Given the description of an element on the screen output the (x, y) to click on. 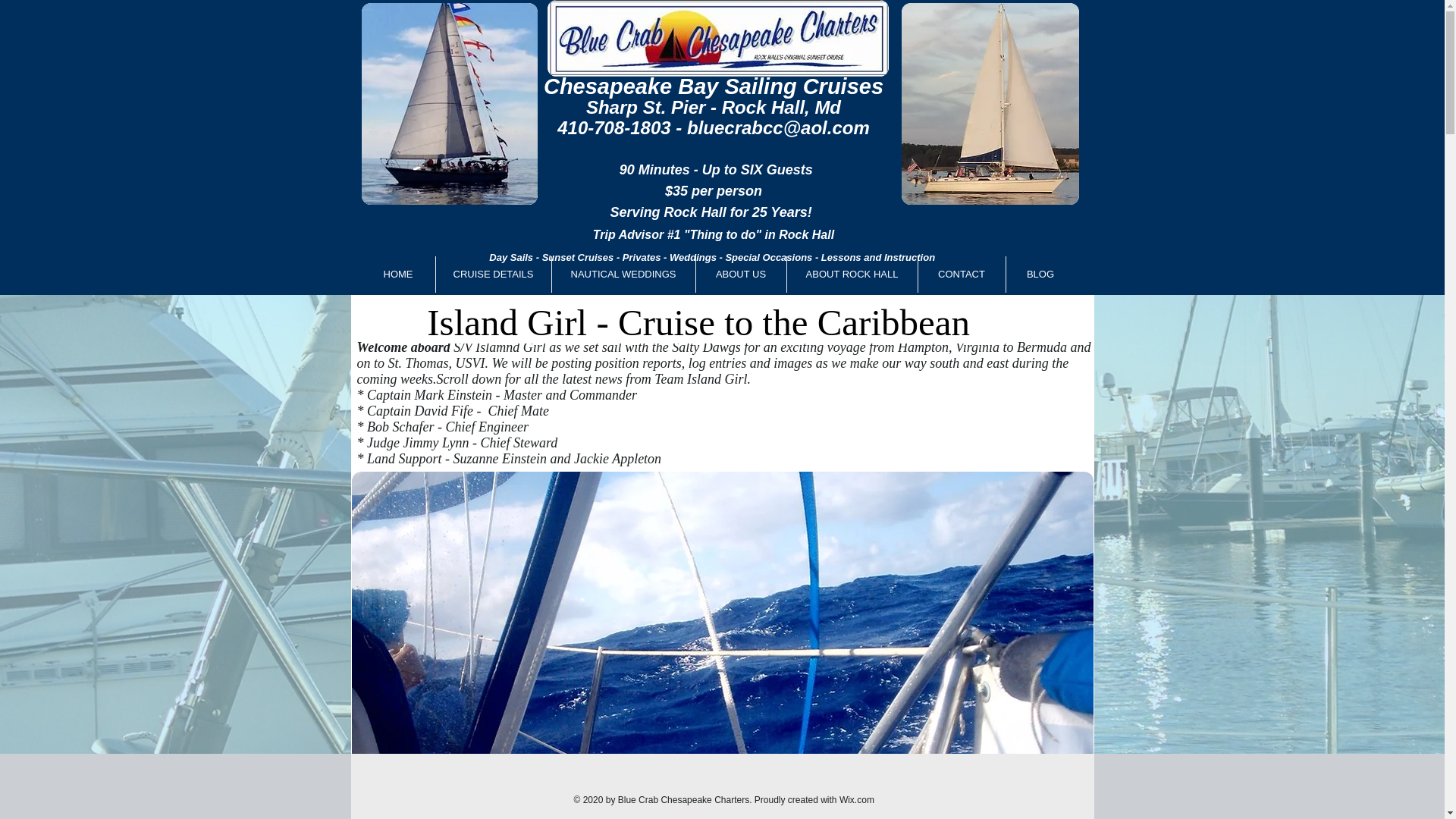
BLOG (1040, 274)
NAUTICAL WEDDINGS (623, 274)
ABOUT US (740, 274)
ABOUT ROCK HALL (852, 274)
HOME (397, 274)
CRUISE DETAILS (492, 274)
CONTACT (960, 274)
